Given the description of an element on the screen output the (x, y) to click on. 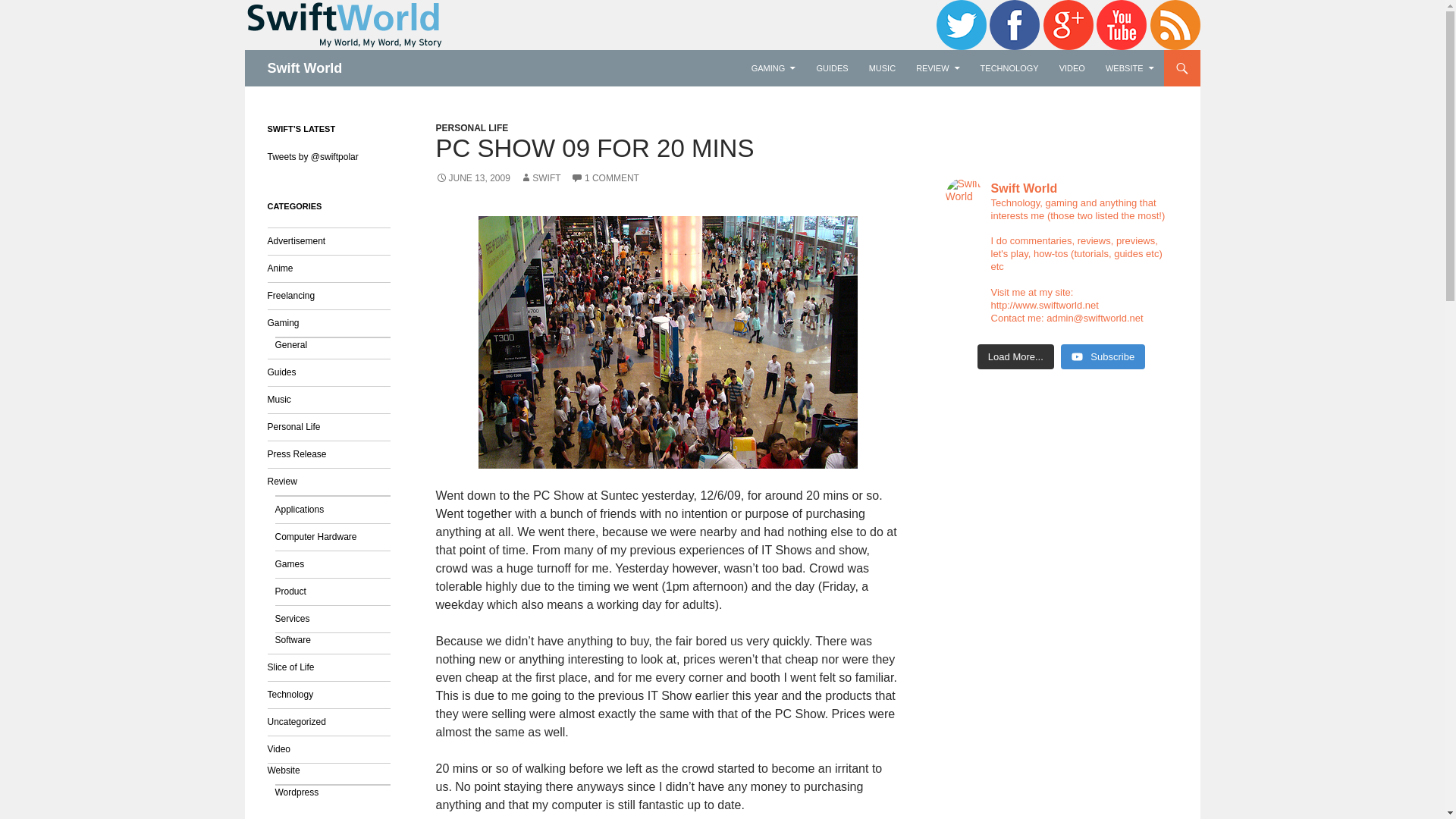
JUNE 13, 2009 (472, 177)
GUIDES (831, 67)
Swift World (304, 67)
WEBSITE (1129, 67)
VIDEO (1071, 67)
SWIFT (539, 177)
MUSIC (882, 67)
TECHNOLOGY (1009, 67)
